Given the description of an element on the screen output the (x, y) to click on. 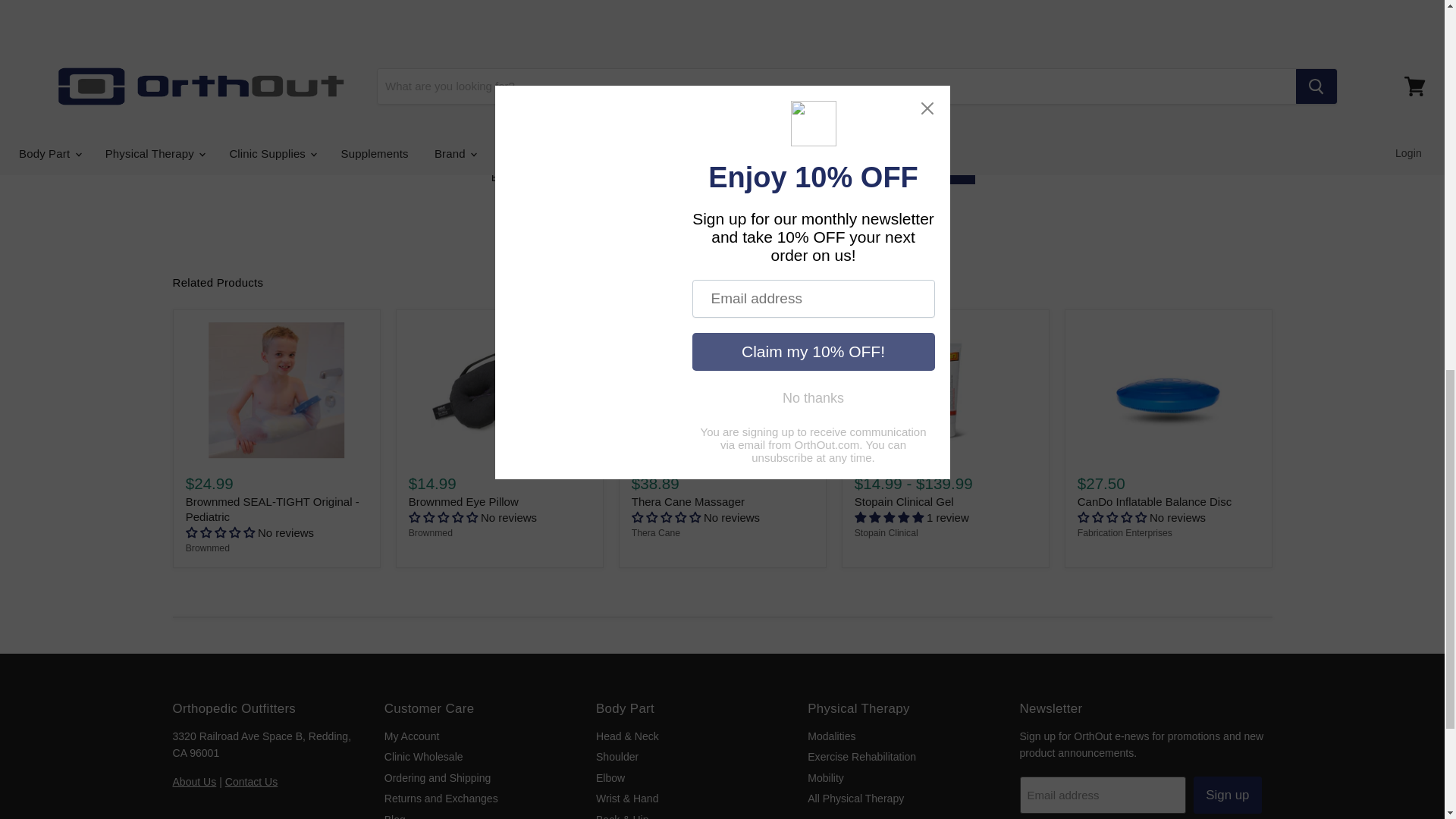
About Us (194, 781)
Brownmed (430, 532)
Thera Cane (655, 532)
Brownmed (208, 547)
Fabrication Enterprises (1124, 532)
Stopain Clinical (886, 532)
